Given the description of an element on the screen output the (x, y) to click on. 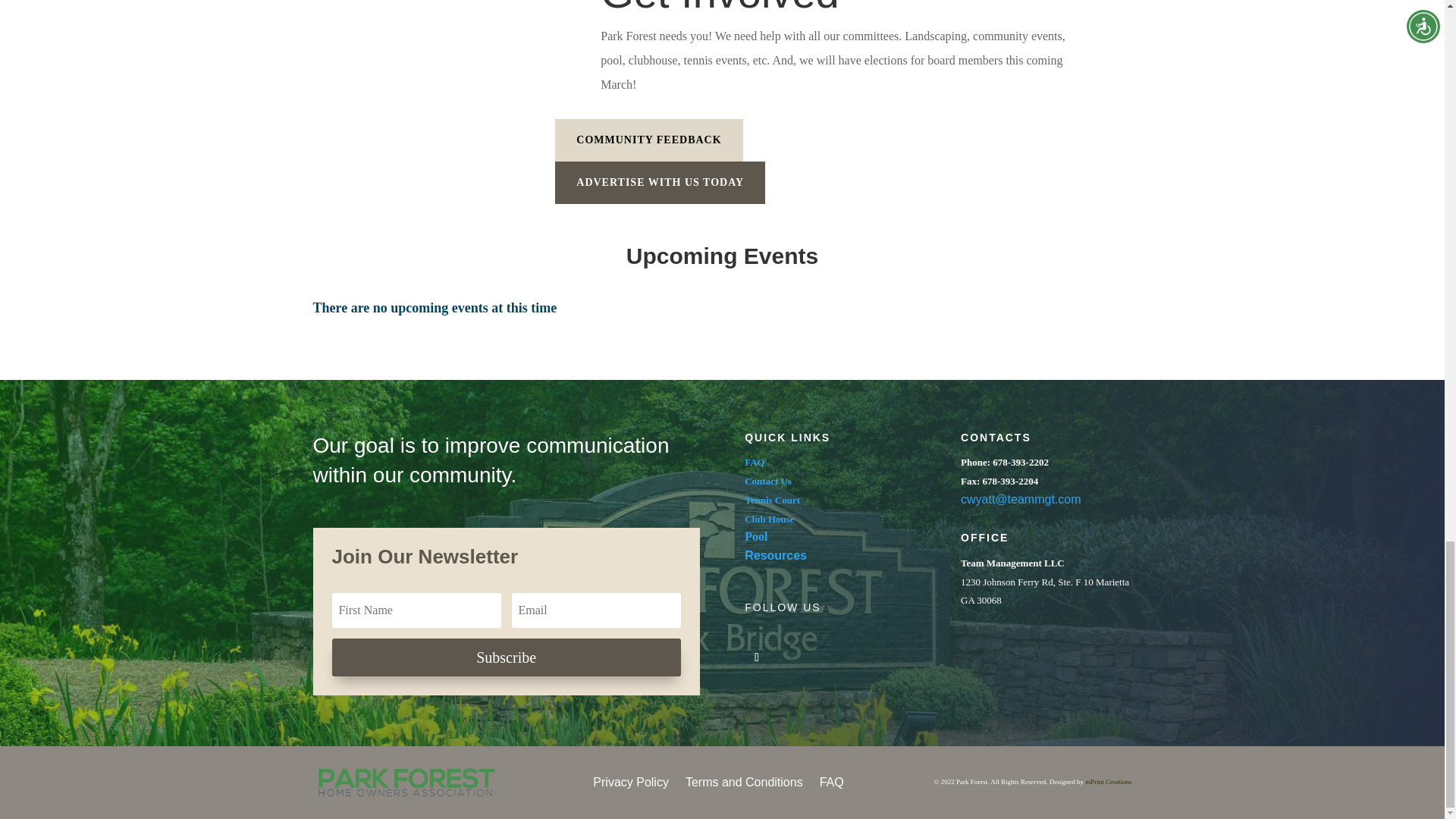
Resources (775, 554)
Follow on Facebook (756, 657)
